Given the description of an element on the screen output the (x, y) to click on. 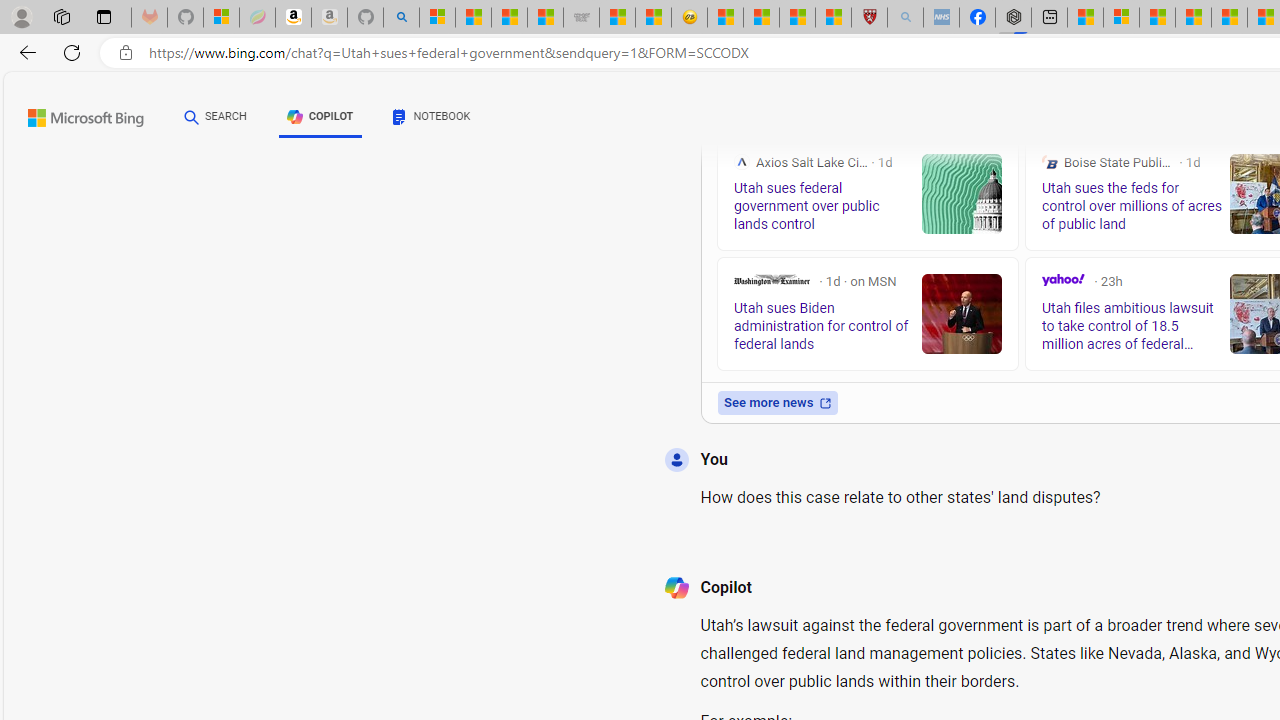
Yahoo (1062, 279)
NOTEBOOK (431, 120)
See more news (777, 402)
COPILOT (319, 120)
NOTEBOOK (431, 116)
Combat Siege (581, 17)
SEARCH (215, 116)
SEARCH (215, 117)
Boise State Public Radio (1049, 161)
